Given the description of an element on the screen output the (x, y) to click on. 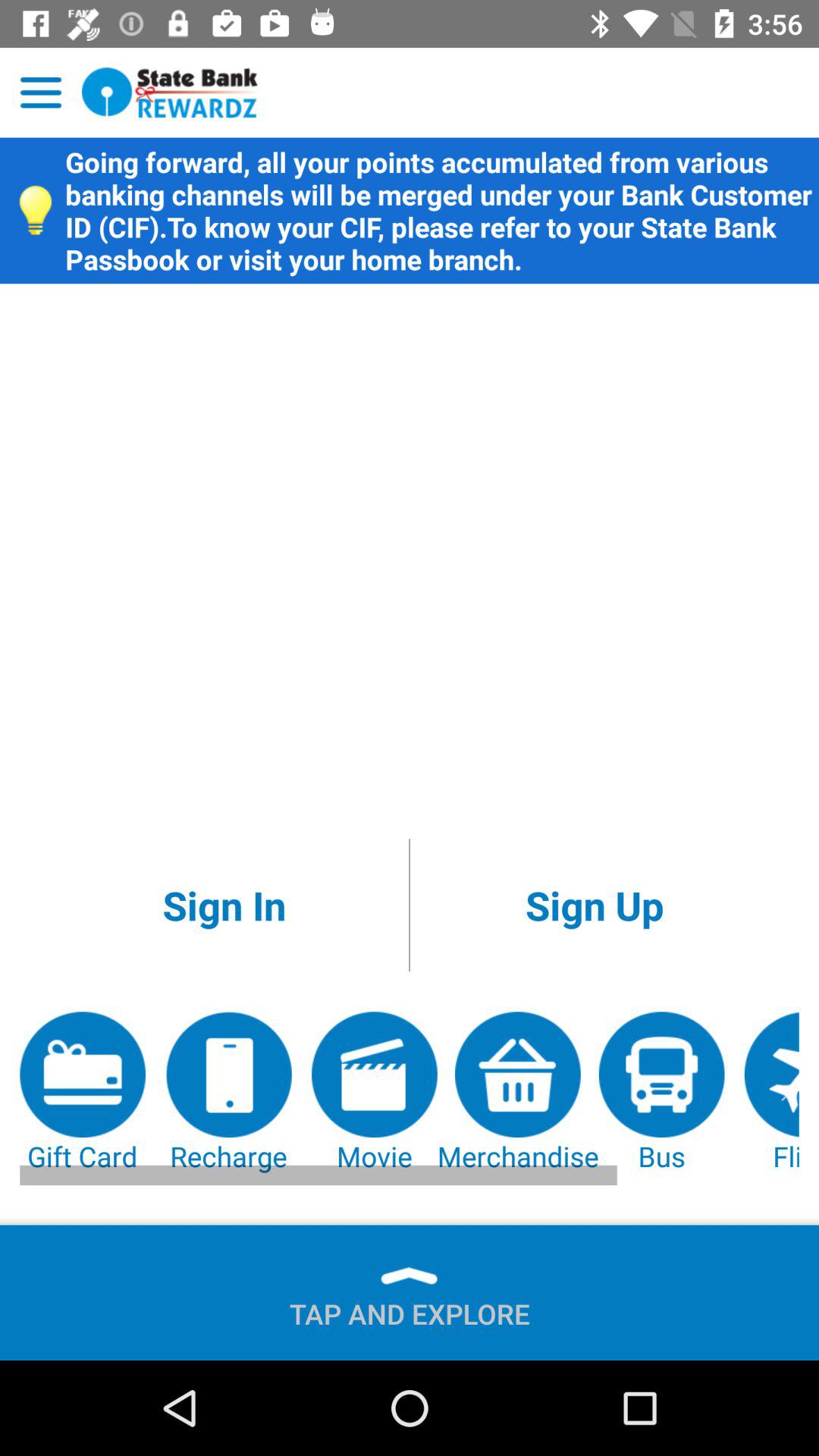
choose app next to the gift card icon (228, 1093)
